Given the description of an element on the screen output the (x, y) to click on. 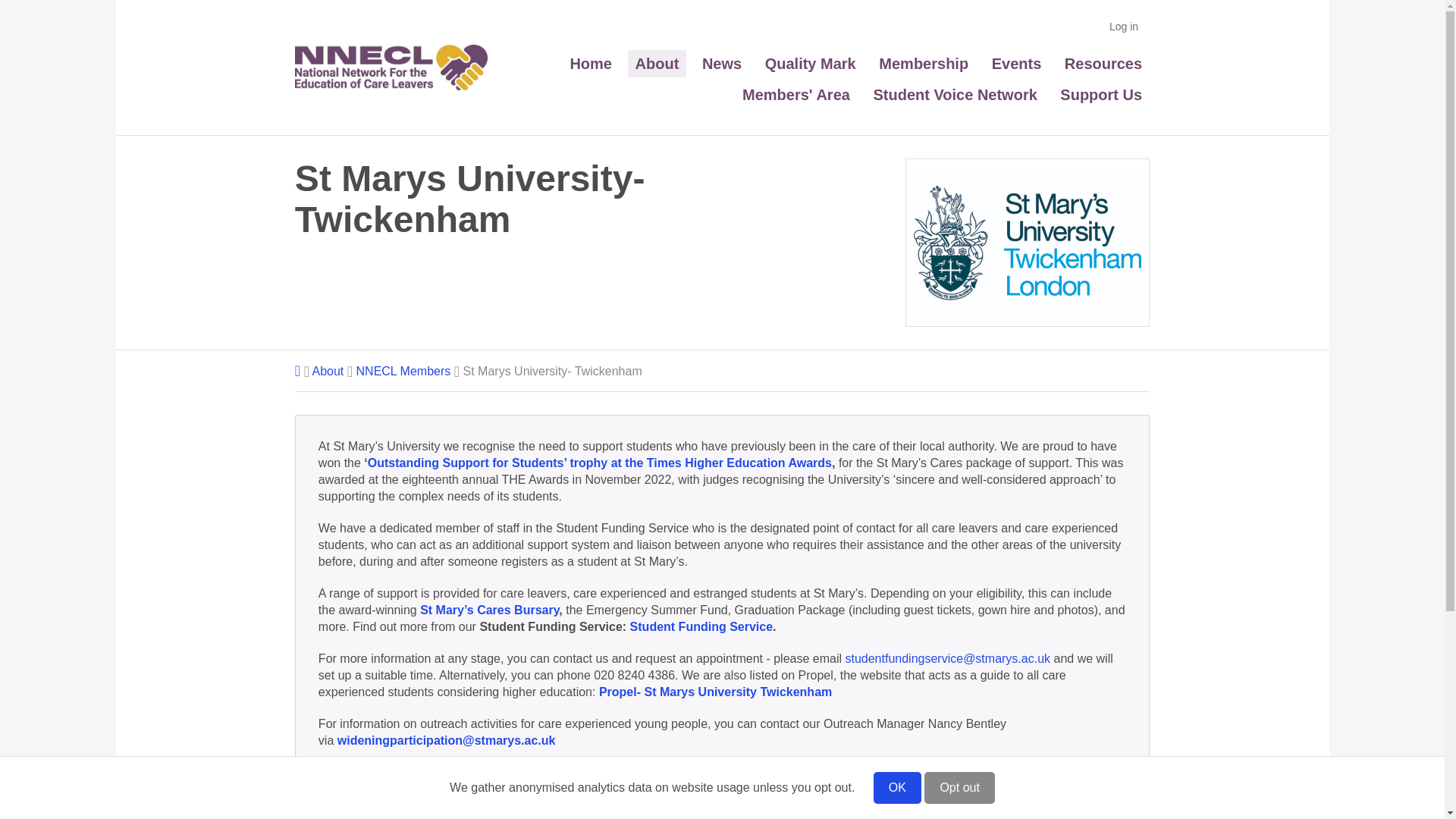
Propel- St Marys University Twickenham (714, 691)
Members' Area (796, 94)
OK (897, 787)
Opt out (959, 787)
Events (1016, 62)
Support Us (1101, 94)
About (328, 370)
Resources (1103, 62)
Student Funding Service (701, 626)
News (721, 62)
NNECL Members (403, 370)
Home (591, 62)
Membership (922, 62)
About (657, 62)
